Given the description of an element on the screen output the (x, y) to click on. 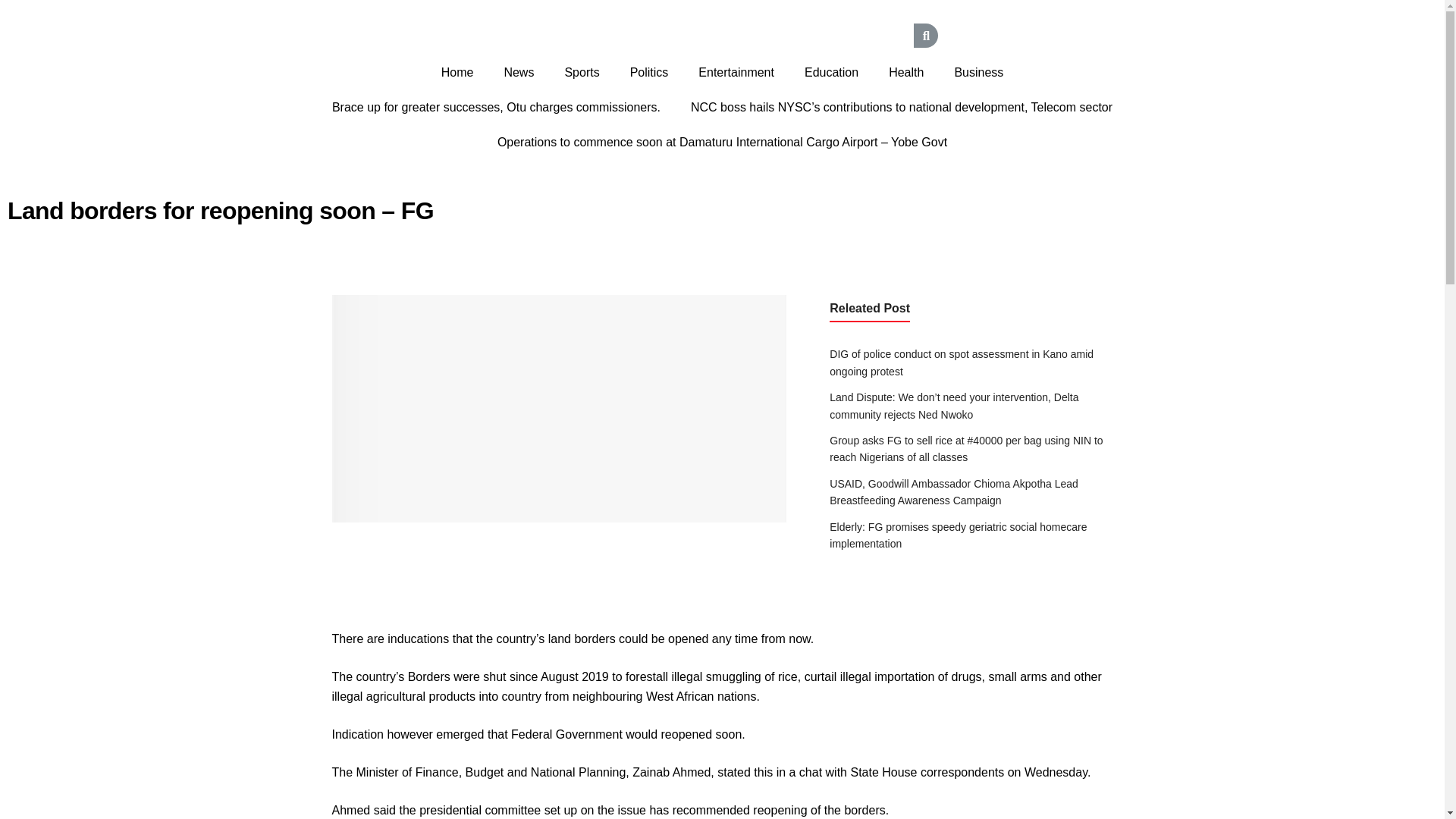
Education (831, 72)
Politics (649, 72)
Home (457, 72)
Brace up for greater successes, Otu charges commissioners. (496, 107)
News (517, 72)
Health (906, 72)
Sports (581, 72)
Entertainment (735, 72)
